Given the description of an element on the screen output the (x, y) to click on. 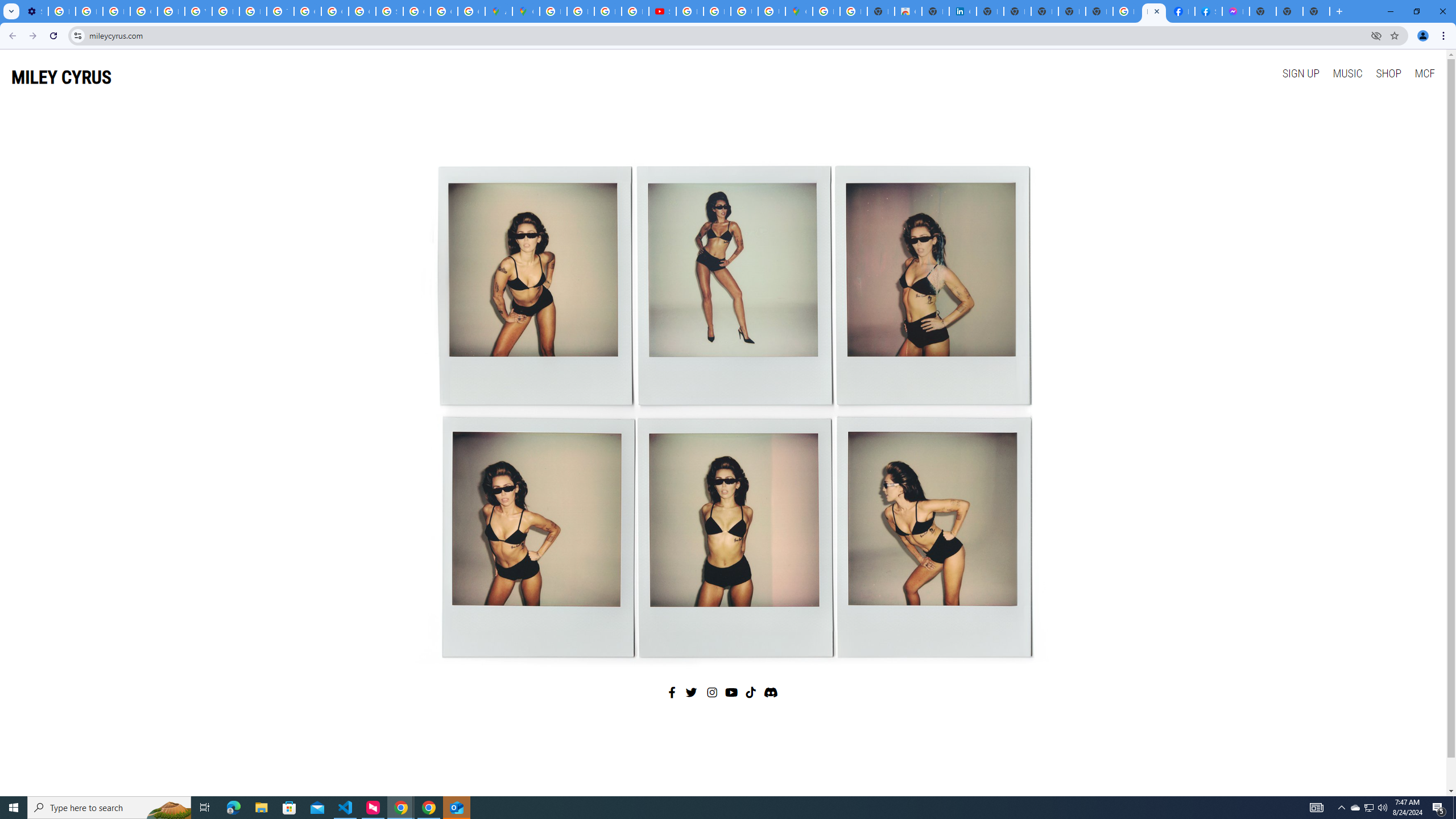
https://scholar.google.com/ (225, 11)
MILEY CYRUS (61, 77)
Third-party cookies blocked (1376, 35)
New Tab (1316, 11)
Google Maps (799, 11)
